Given the description of an element on the screen output the (x, y) to click on. 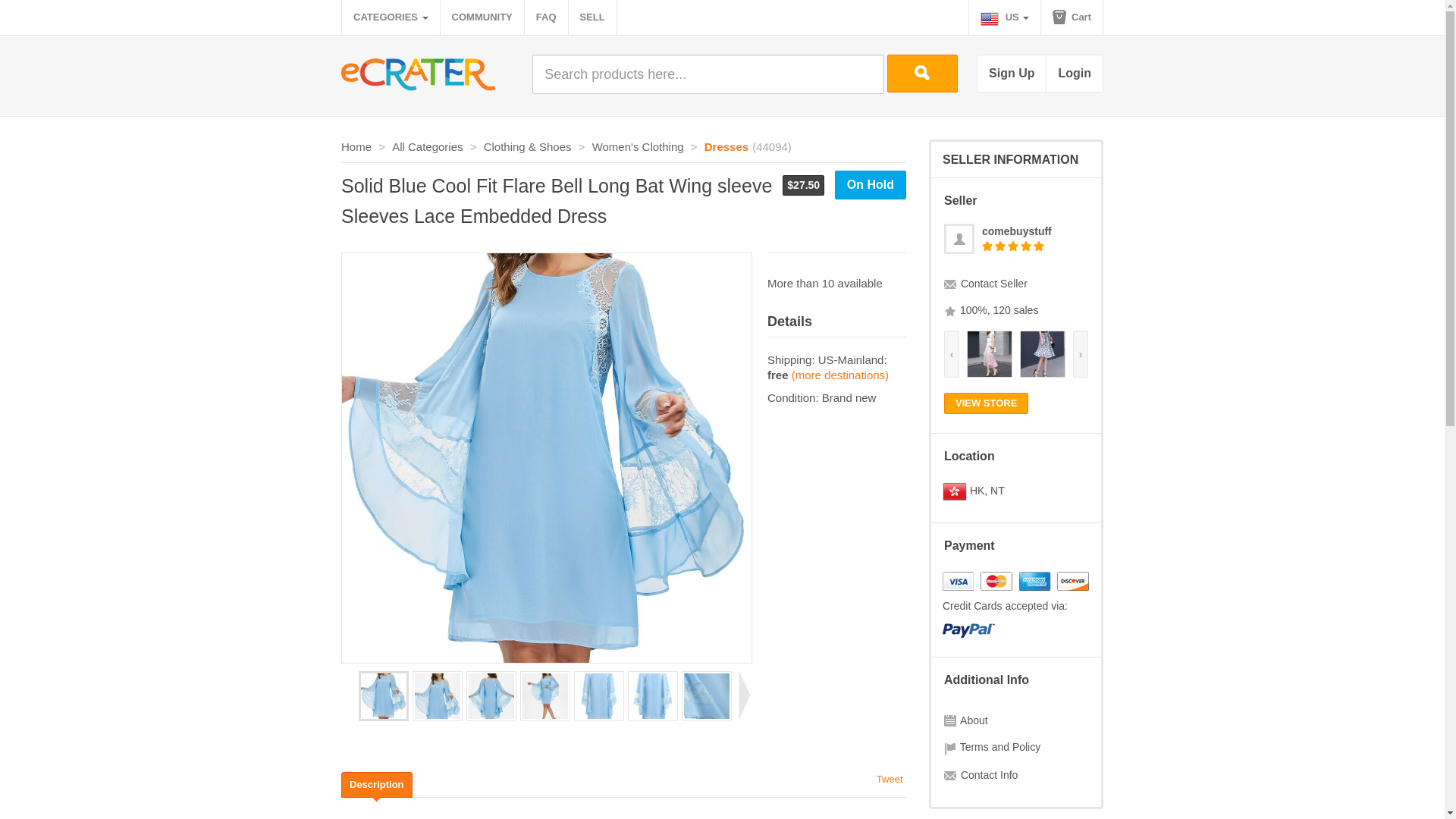
US (1005, 17)
CATEGORIES (390, 17)
FAQ (545, 17)
SELL (592, 17)
COMMUNITY (482, 17)
